Given the description of an element on the screen output the (x, y) to click on. 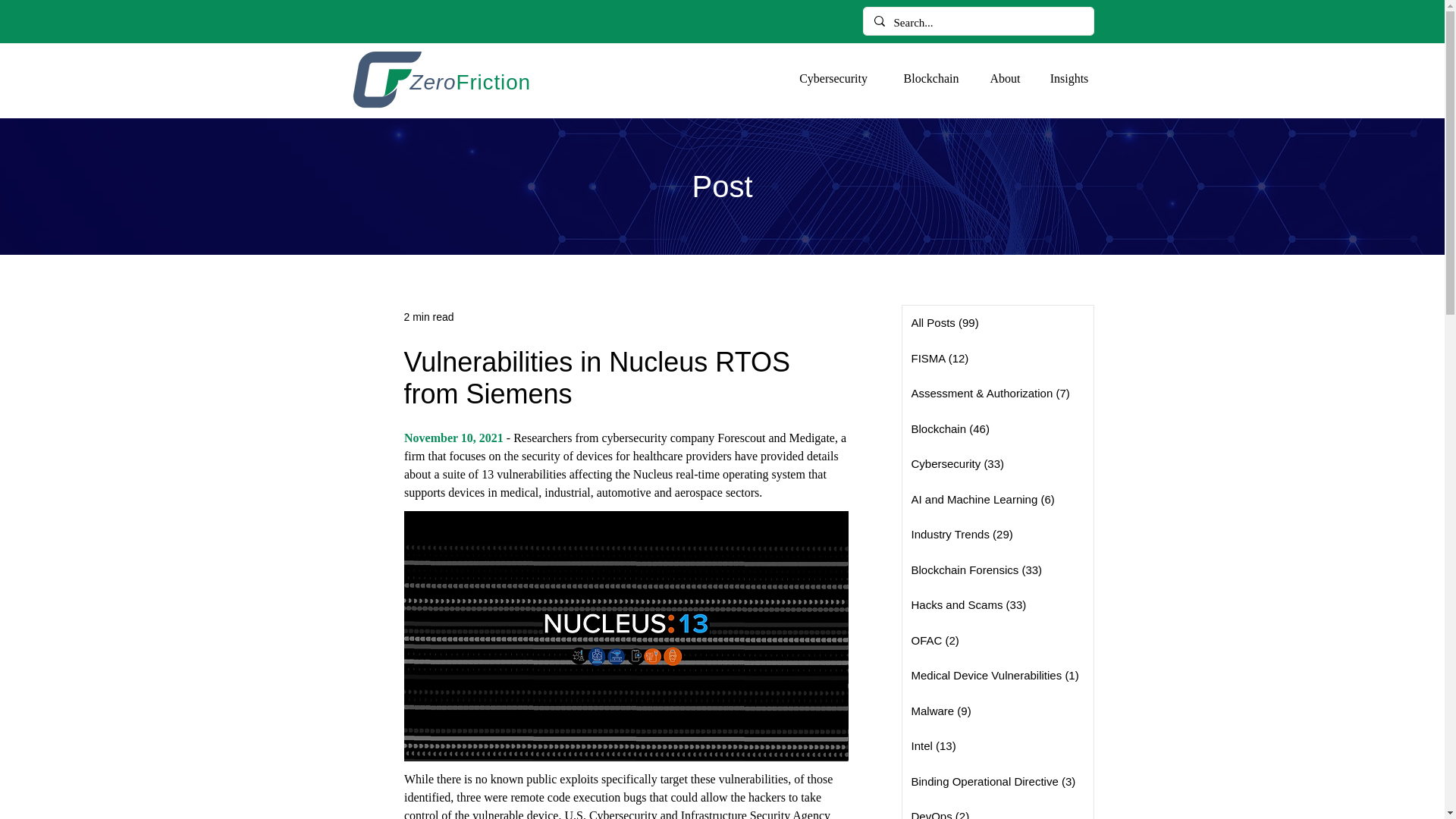
Cybersecurity (832, 78)
About (1004, 78)
Blockchain (930, 78)
2 min read (427, 316)
ZeroFriction (469, 82)
Insights (1068, 78)
Return to Zero Friction's Main Page (387, 79)
